Given the description of an element on the screen output the (x, y) to click on. 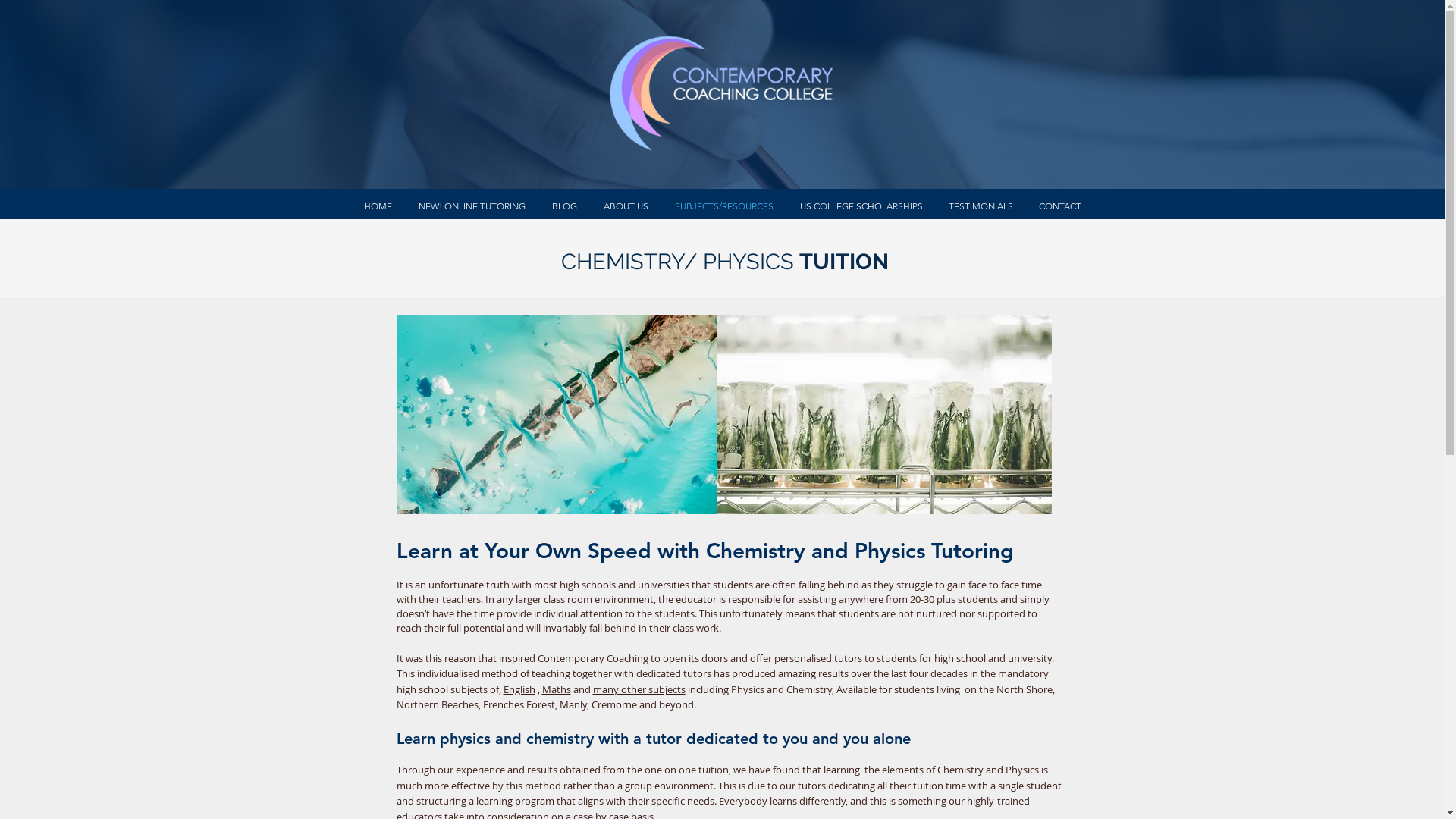
US COLLEGE SCHOLARSHIPS Element type: text (861, 205)
Learn about our Chemistry and Physics Tutoring Service Element type: hover (555, 414)
Northern Beaches Tutoring.png Element type: hover (720, 89)
HOME Element type: text (377, 205)
TESTIMONIALS Element type: text (980, 205)
many other subjects Element type: text (639, 689)
BLOG Element type: text (563, 205)
CONTACT Element type: text (1059, 205)
Learn more about our Chemistry and Physics Tuition Element type: hover (883, 414)
English Element type: text (519, 689)
Maths Element type: text (555, 689)
NEW! ONLINE TUTORING Element type: text (471, 205)
Log In Element type: text (1042, 57)
ABOUT US Element type: text (625, 205)
SUBJECTS/RESOURCES Element type: text (723, 205)
